Given the description of an element on the screen output the (x, y) to click on. 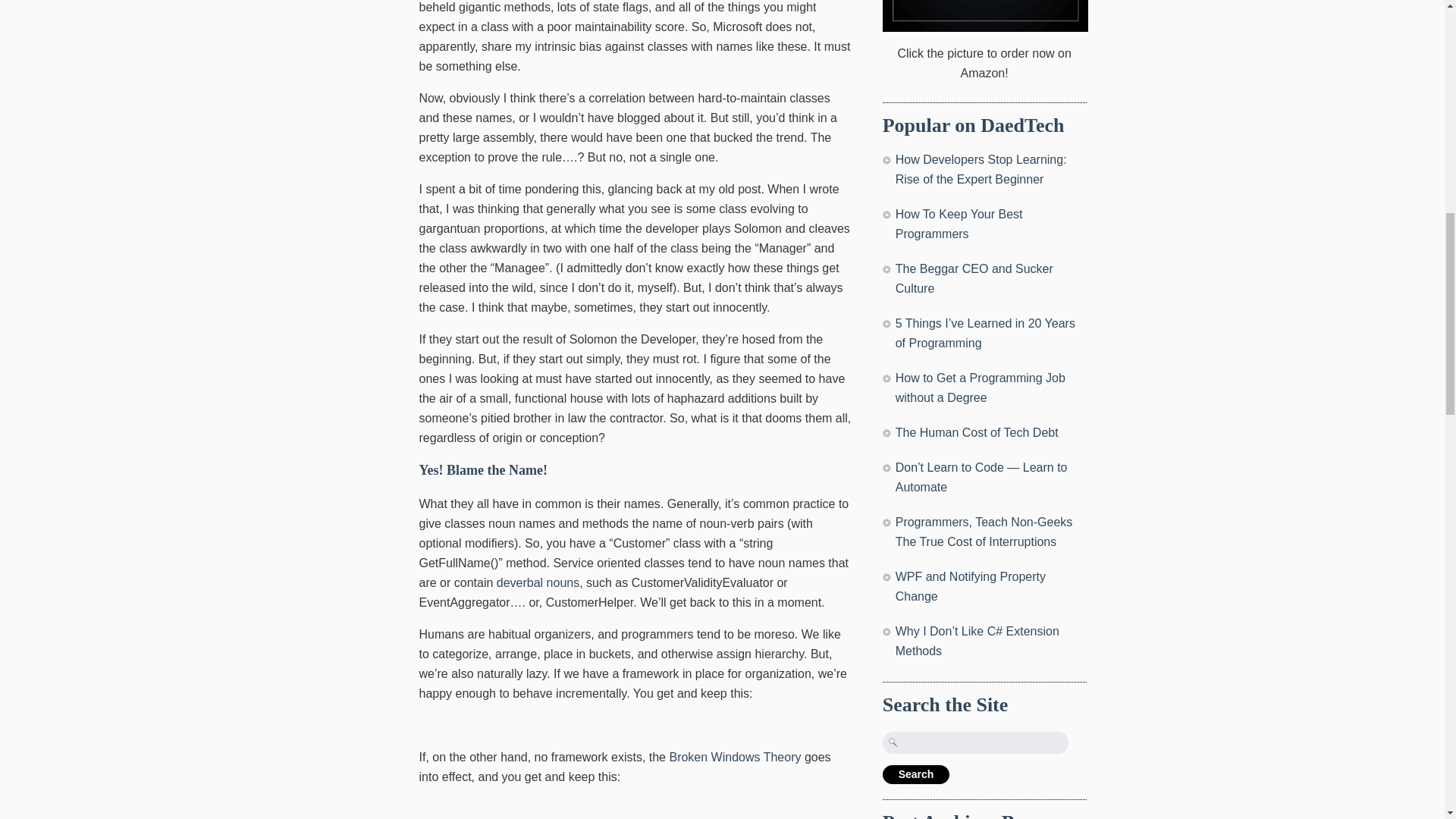
How To Keep Your Best Programmers (959, 224)
Search (916, 773)
Search (916, 773)
The Beggar CEO and Sucker Culture (973, 278)
Broken Windows Theory (734, 757)
WPF and Notifying Property Change (970, 586)
The Human Cost of Tech Debt (976, 431)
How to Get a Programming Job without a Degree (980, 387)
How Developers Stop Learning: Rise of the Expert Beginner (981, 169)
deverbal nouns (537, 582)
